Given the description of an element on the screen output the (x, y) to click on. 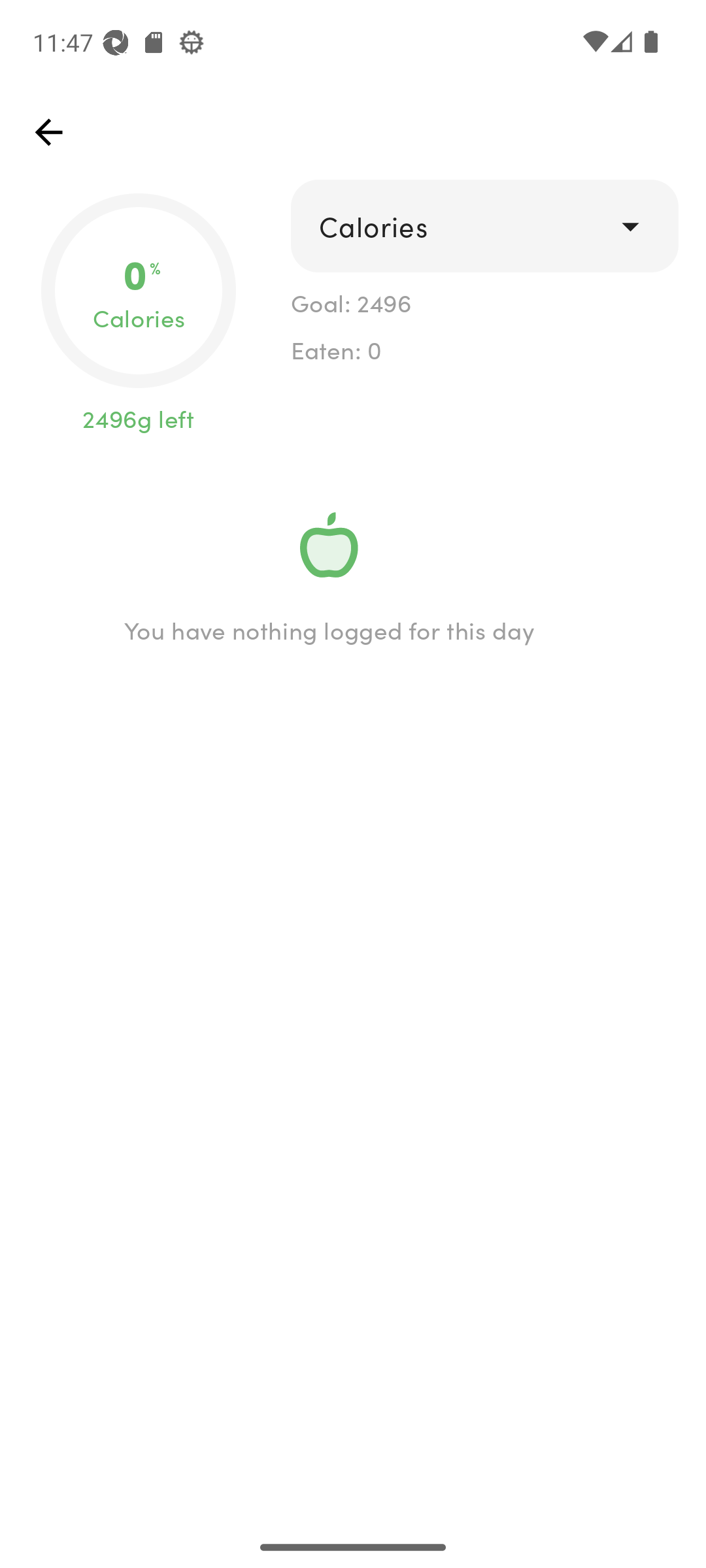
top_left_action (48, 132)
drop_down Calories (484, 226)
